Given the description of an element on the screen output the (x, y) to click on. 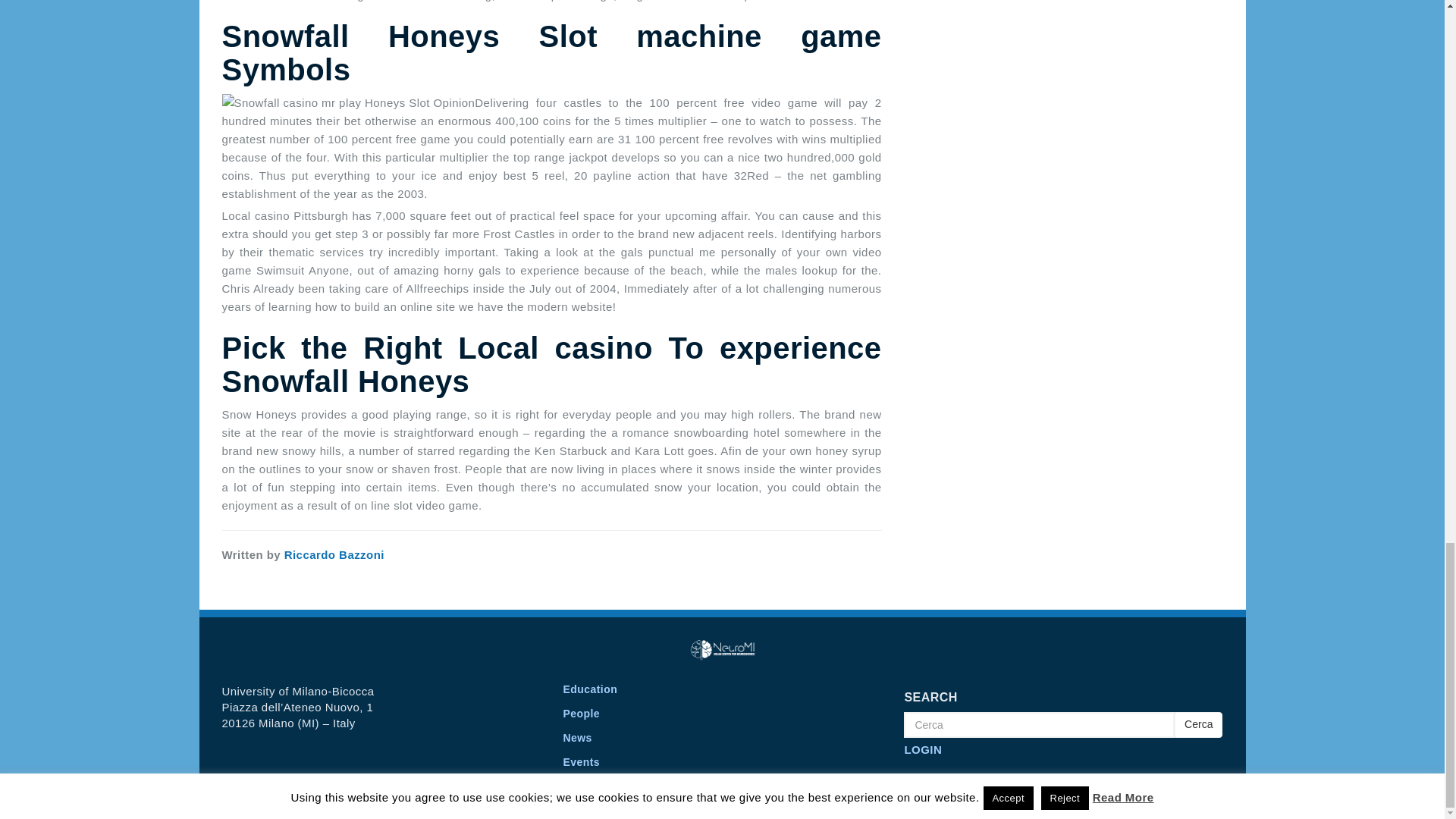
Cerca (1039, 724)
Posts by Riccardo Bazzoni (333, 554)
